Given the description of an element on the screen output the (x, y) to click on. 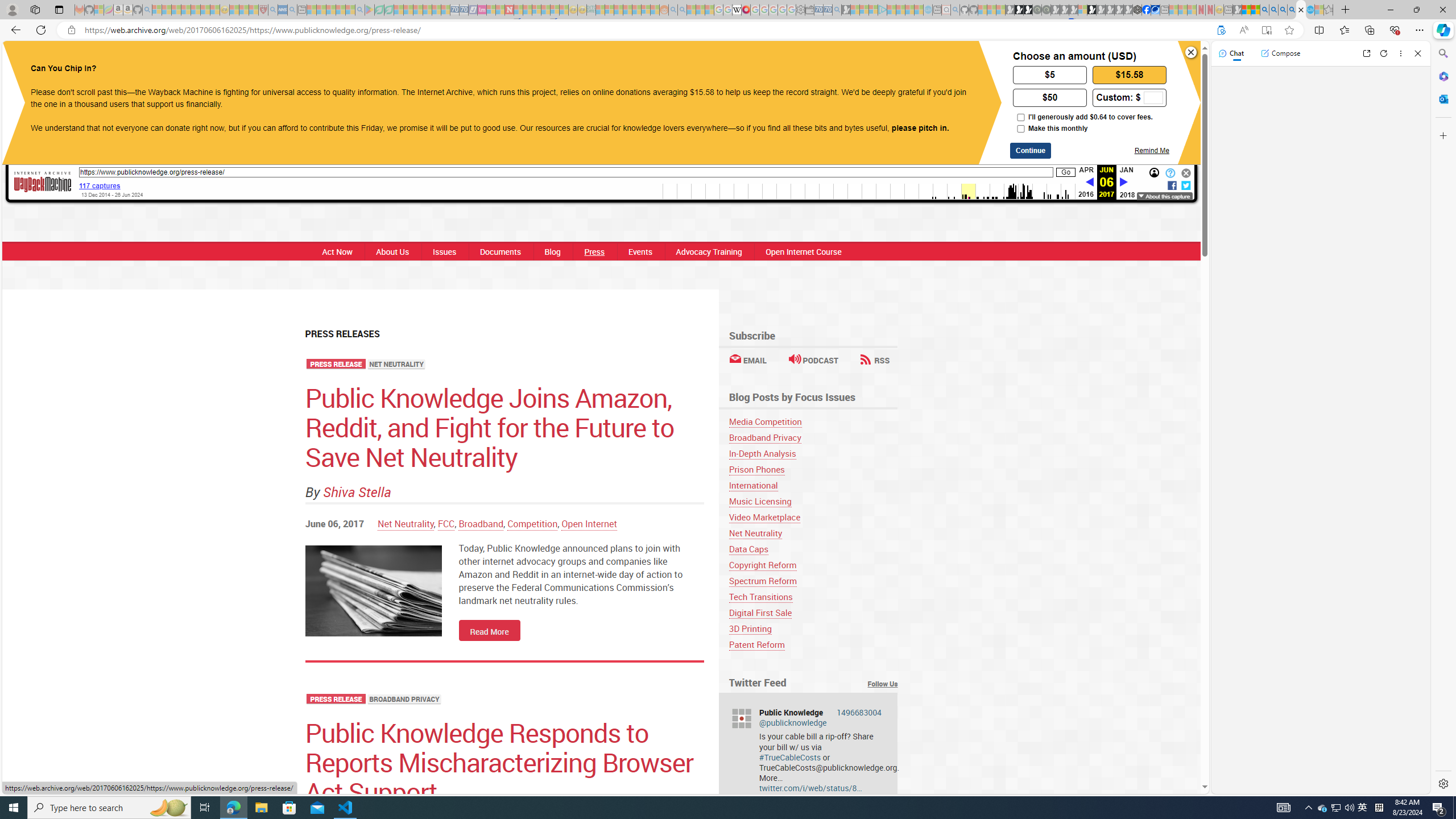
Broadband Privacy (764, 437)
Google Chrome Internet Browser Download - Search Images (1291, 9)
Open Internet (589, 523)
Issues (443, 251)
Wayback Machine (42, 181)
ACT NOW (783, 60)
